Given the description of an element on the screen output the (x, y) to click on. 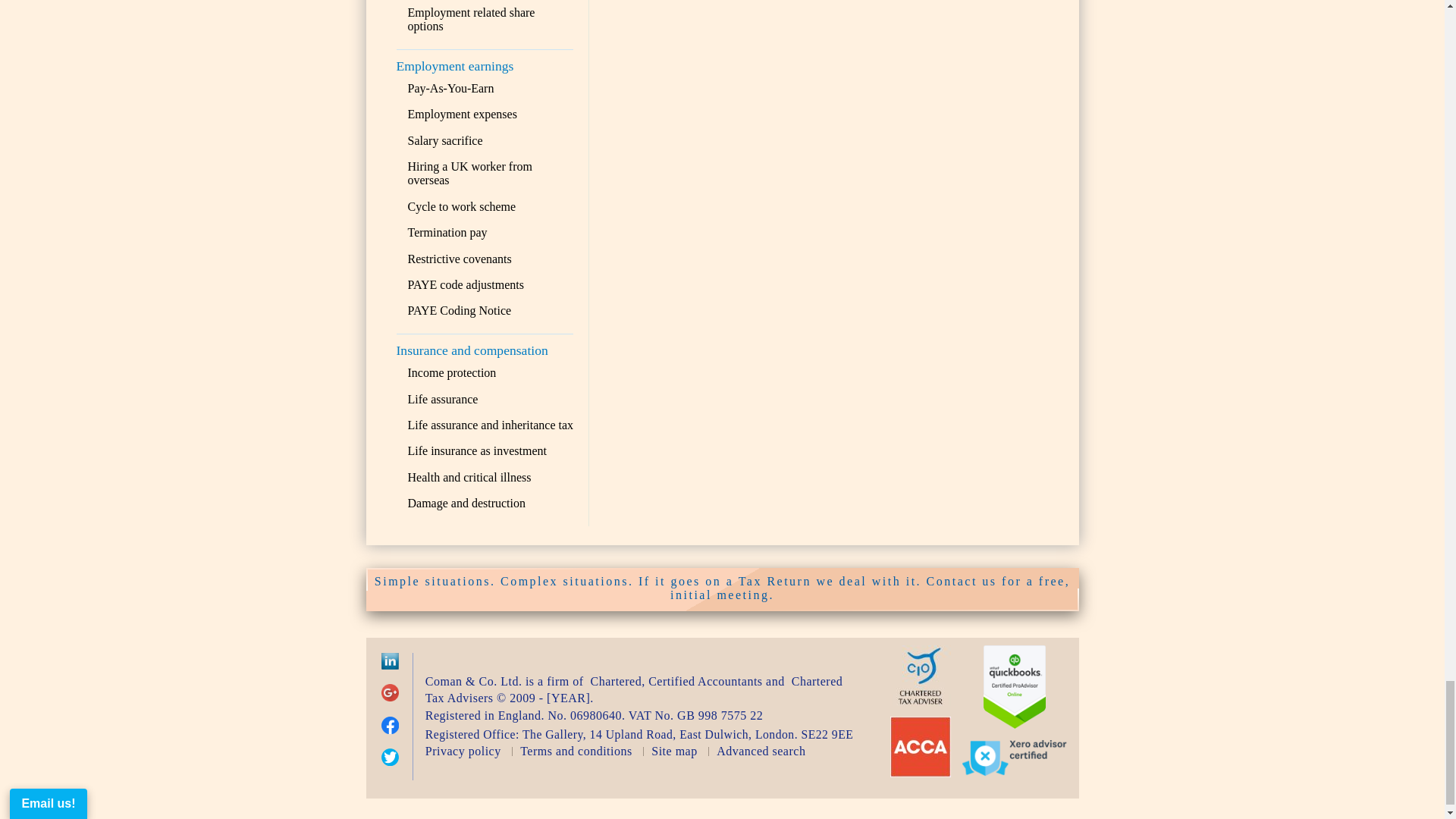
ACCA Coman and Co (919, 772)
Chartered Institute of Taxation Coman and Co (919, 701)
